Given the description of an element on the screen output the (x, y) to click on. 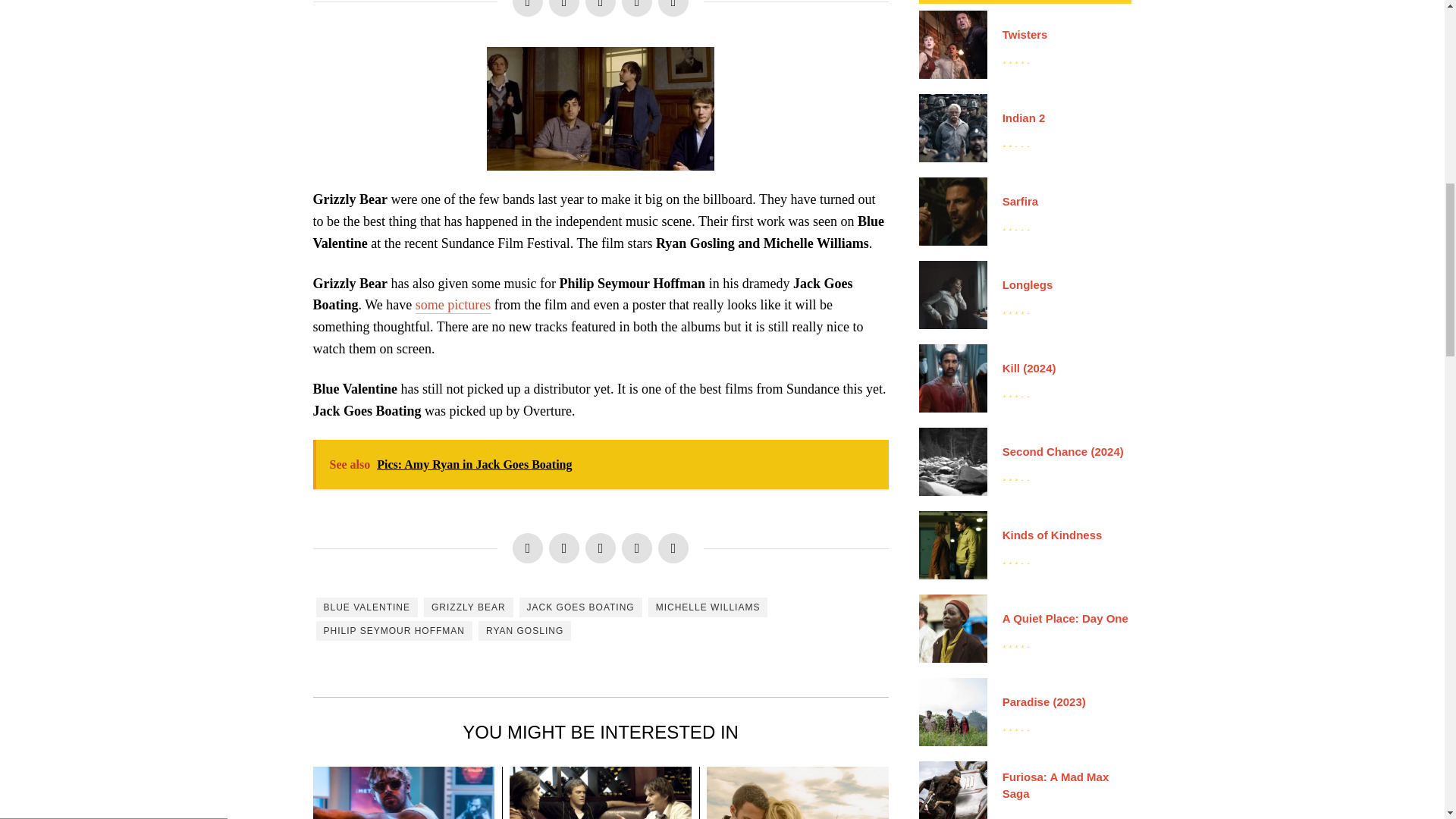
Grizzly Bear (600, 108)
